Given the description of an element on the screen output the (x, y) to click on. 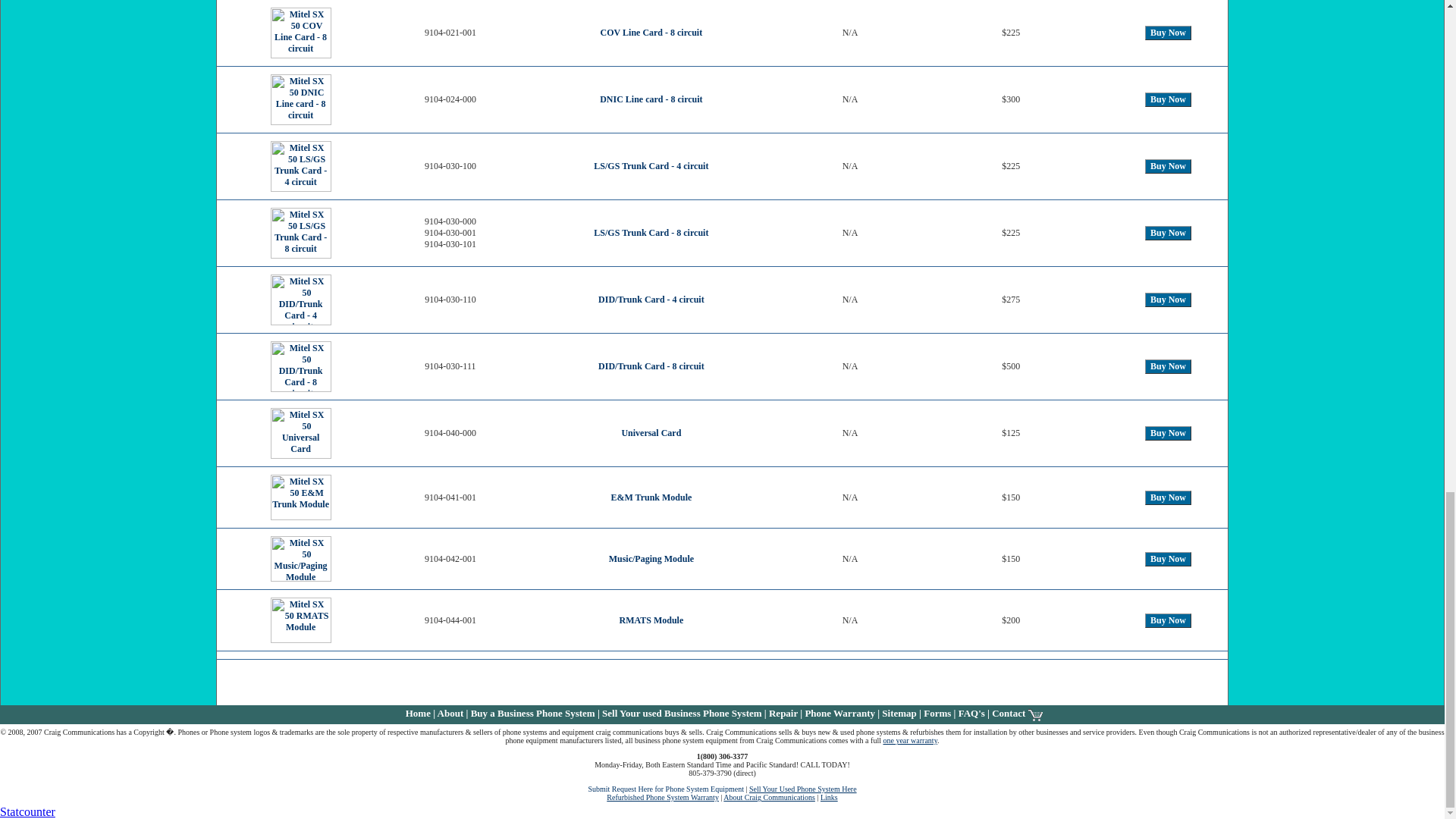
Buy Now (1167, 32)
Buy Now (1167, 233)
Buy Now (1167, 432)
Buy Now (1167, 619)
Buy Now (1167, 99)
Buy Now (1167, 496)
Buy Now (1167, 165)
Buy Now (1167, 366)
Buy Now (1167, 559)
Buy Now (1167, 299)
